Given the description of an element on the screen output the (x, y) to click on. 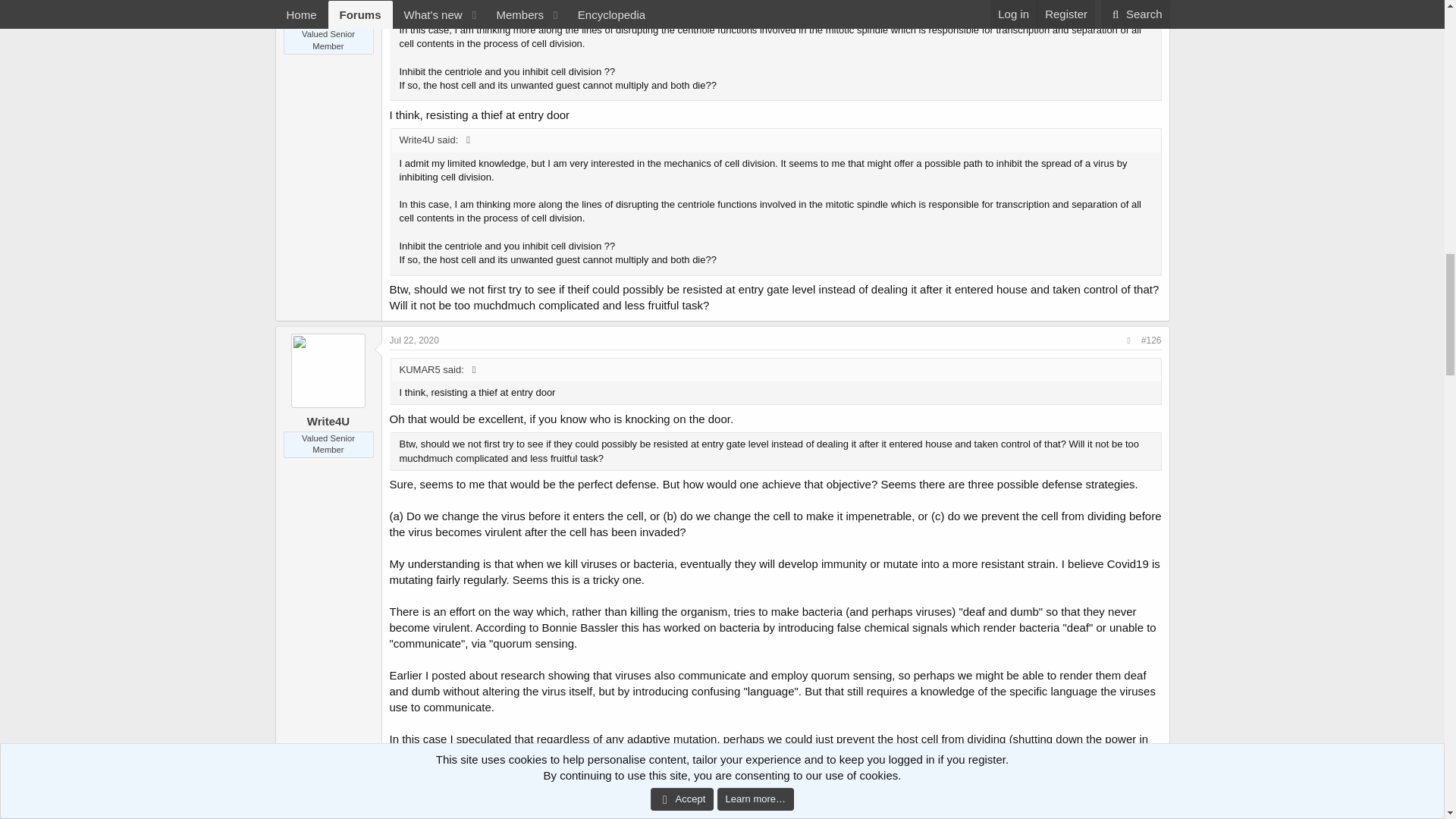
Jul 22, 2020 at 2:14 PM (414, 339)
